Given the description of an element on the screen output the (x, y) to click on. 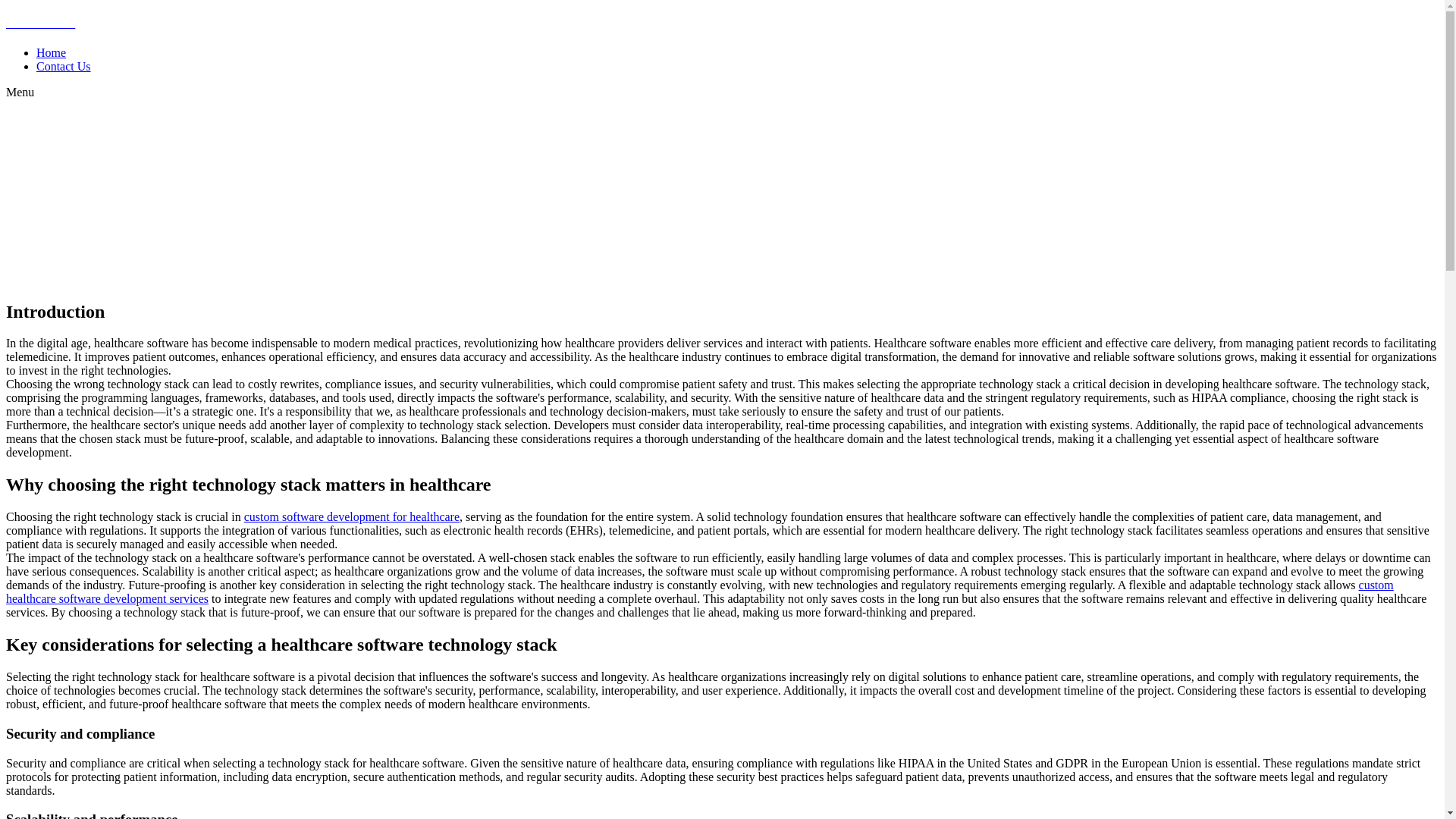
Menu (19, 91)
custom software development for healthcare (352, 516)
Contact Us (63, 65)
custom healthcare software development services (699, 591)
Home (50, 51)
